Given the description of an element on the screen output the (x, y) to click on. 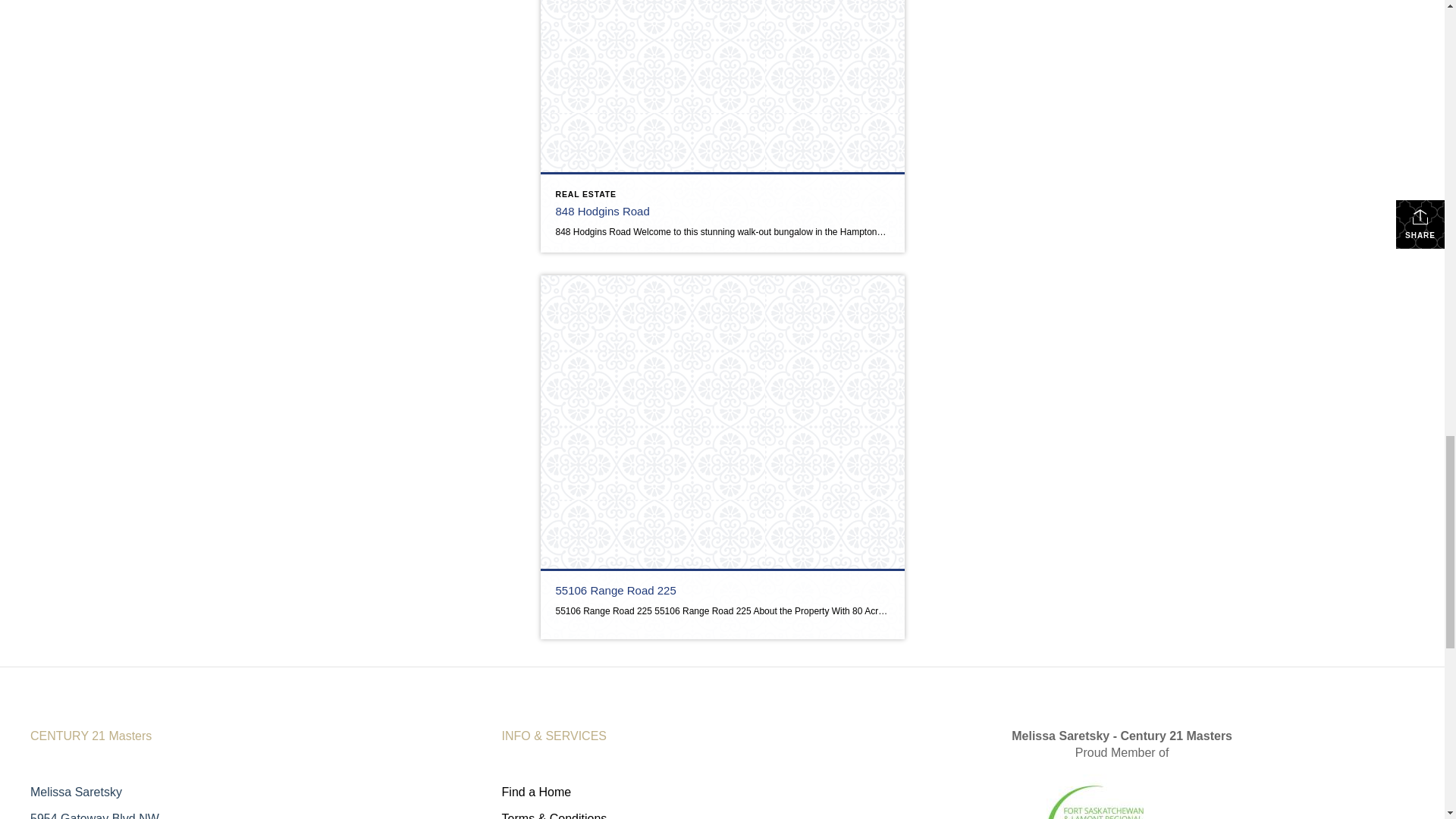
Fort Saskatchewan Chamber of Commerce (1122, 790)
